Given the description of an element on the screen output the (x, y) to click on. 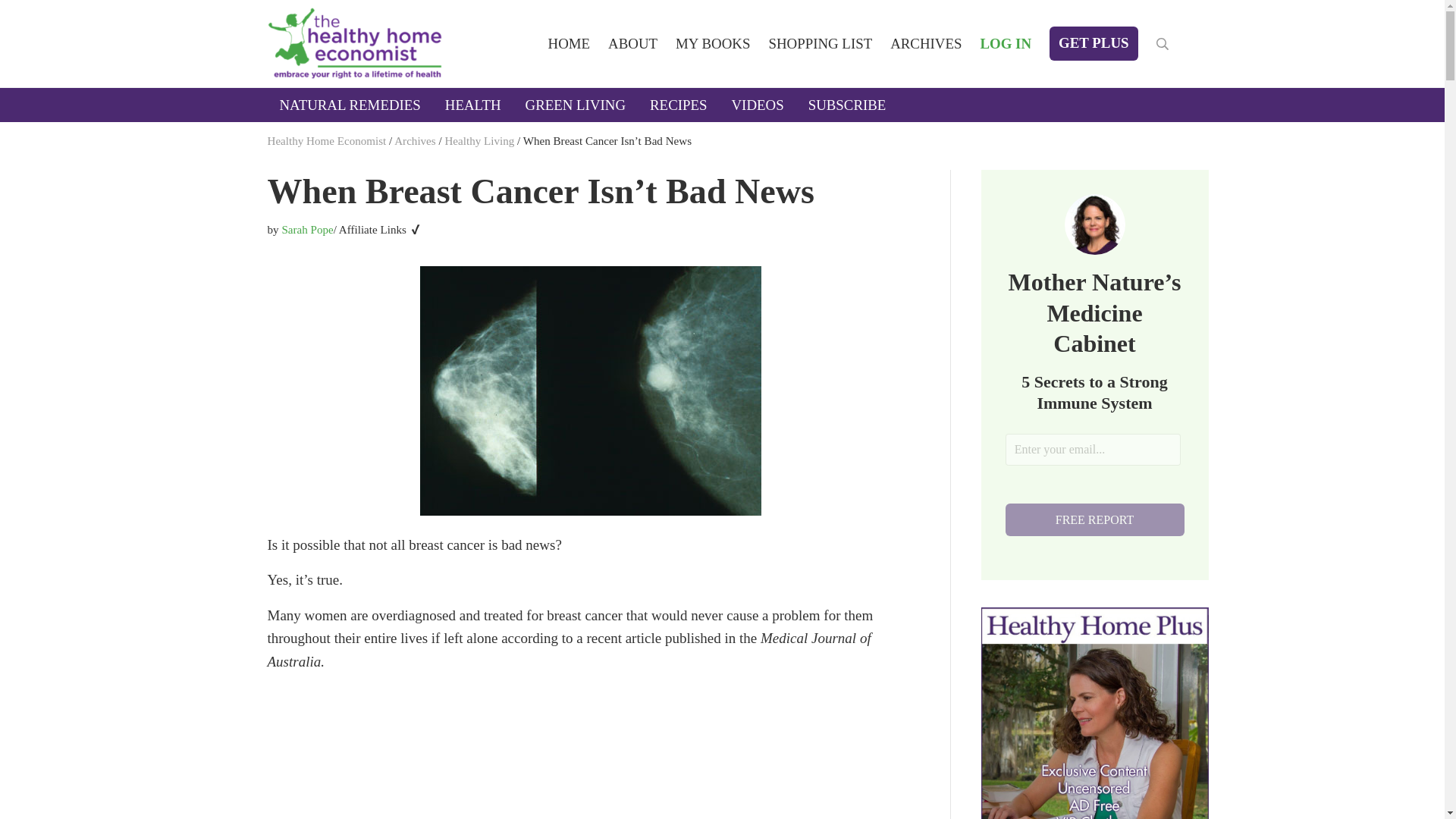
GET PLUS (1093, 43)
HEALTH (472, 104)
LOG IN (1006, 43)
NATURAL REMEDIES (349, 104)
GREEN LIVING (576, 104)
HOME (568, 43)
breastcancer (590, 390)
RECIPES (678, 104)
SHOPPING LIST (819, 43)
ABOUT (632, 43)
SEARCH (1161, 43)
VIDEOS (756, 104)
ARCHIVES (925, 43)
MY BOOKS (712, 43)
